Given the description of an element on the screen output the (x, y) to click on. 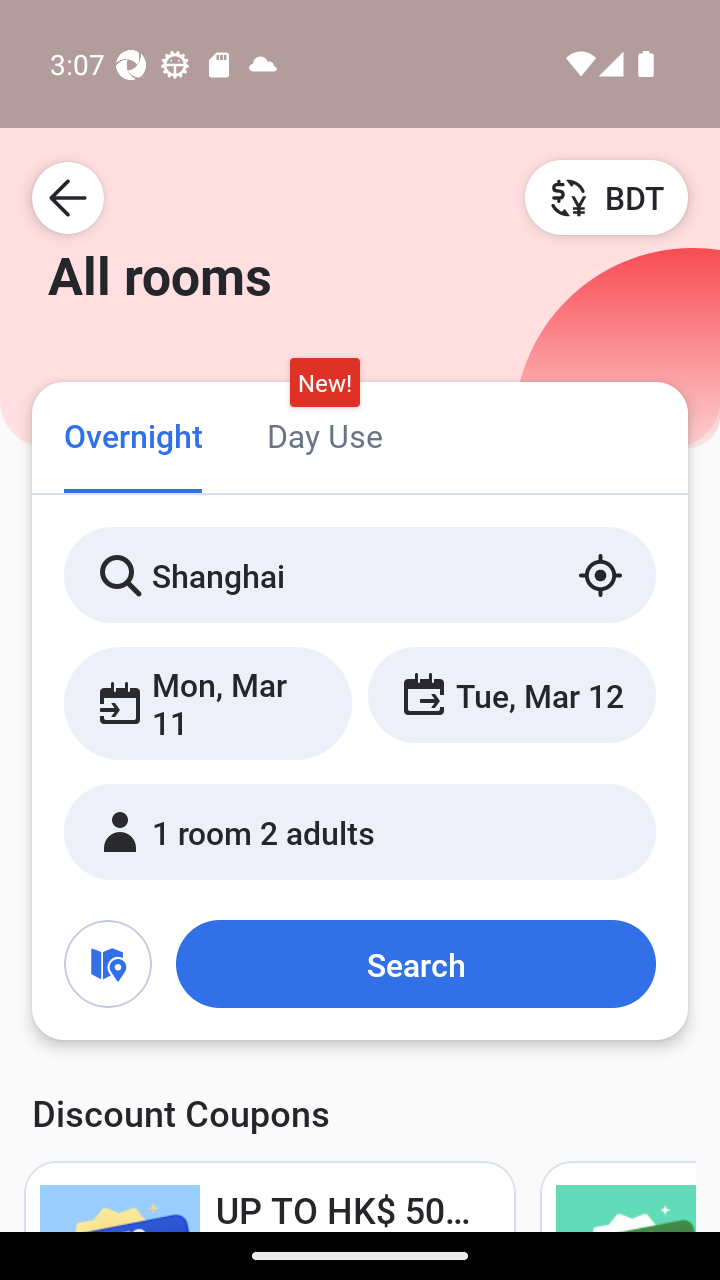
BDT (606, 197)
New! (324, 383)
Day Use (324, 434)
Shanghai (359, 575)
Mon, Mar 11 (208, 703)
Tue, Mar 12 (511, 694)
1 room 2 adults (359, 831)
Search (415, 964)
